Given the description of an element on the screen output the (x, y) to click on. 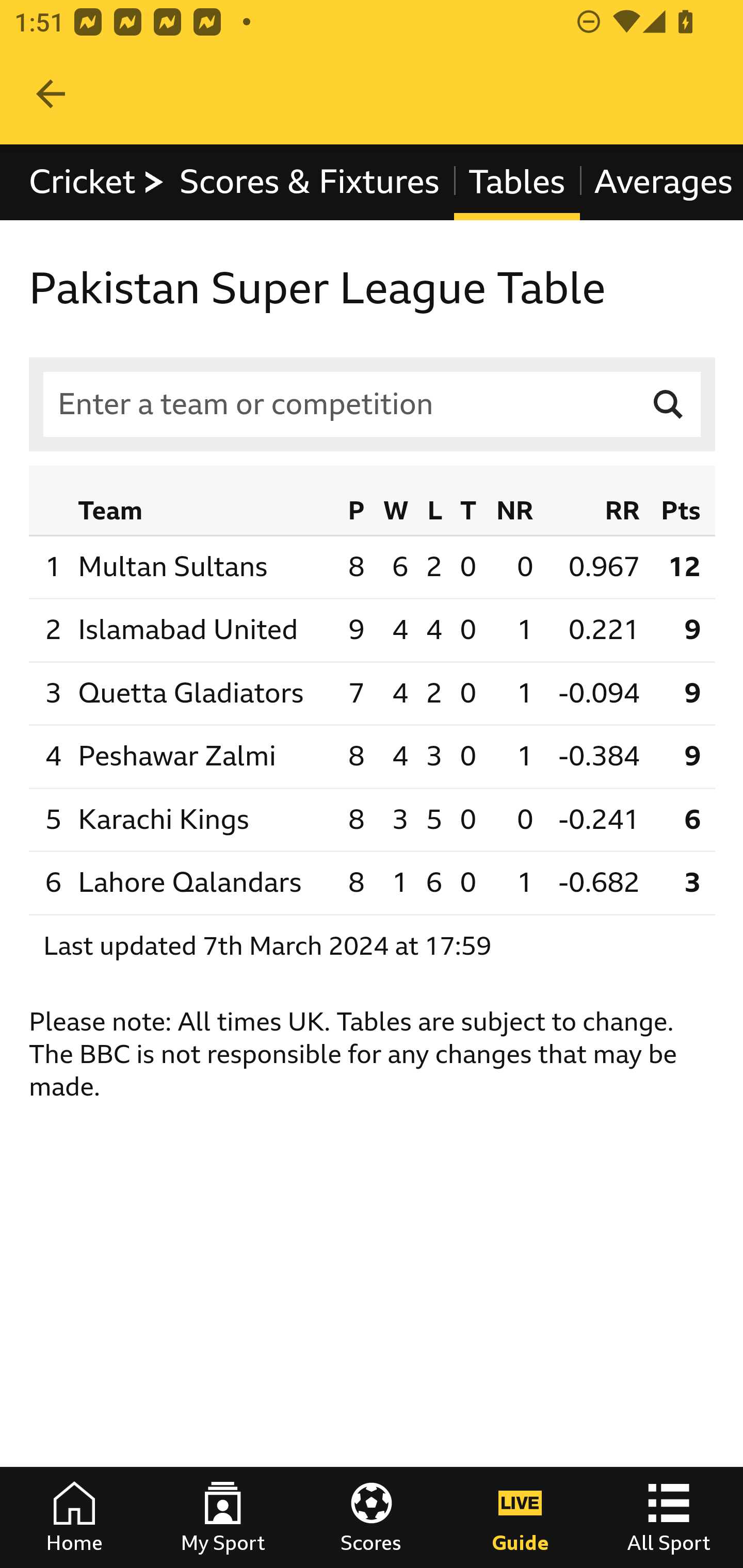
Navigate up (50, 93)
Cricket  (97, 181)
Scores & Fixtures (309, 181)
Tables (517, 181)
Averages (660, 181)
Search (669, 404)
Home (74, 1517)
My Sport (222, 1517)
Scores (371, 1517)
All Sport (668, 1517)
